Given the description of an element on the screen output the (x, y) to click on. 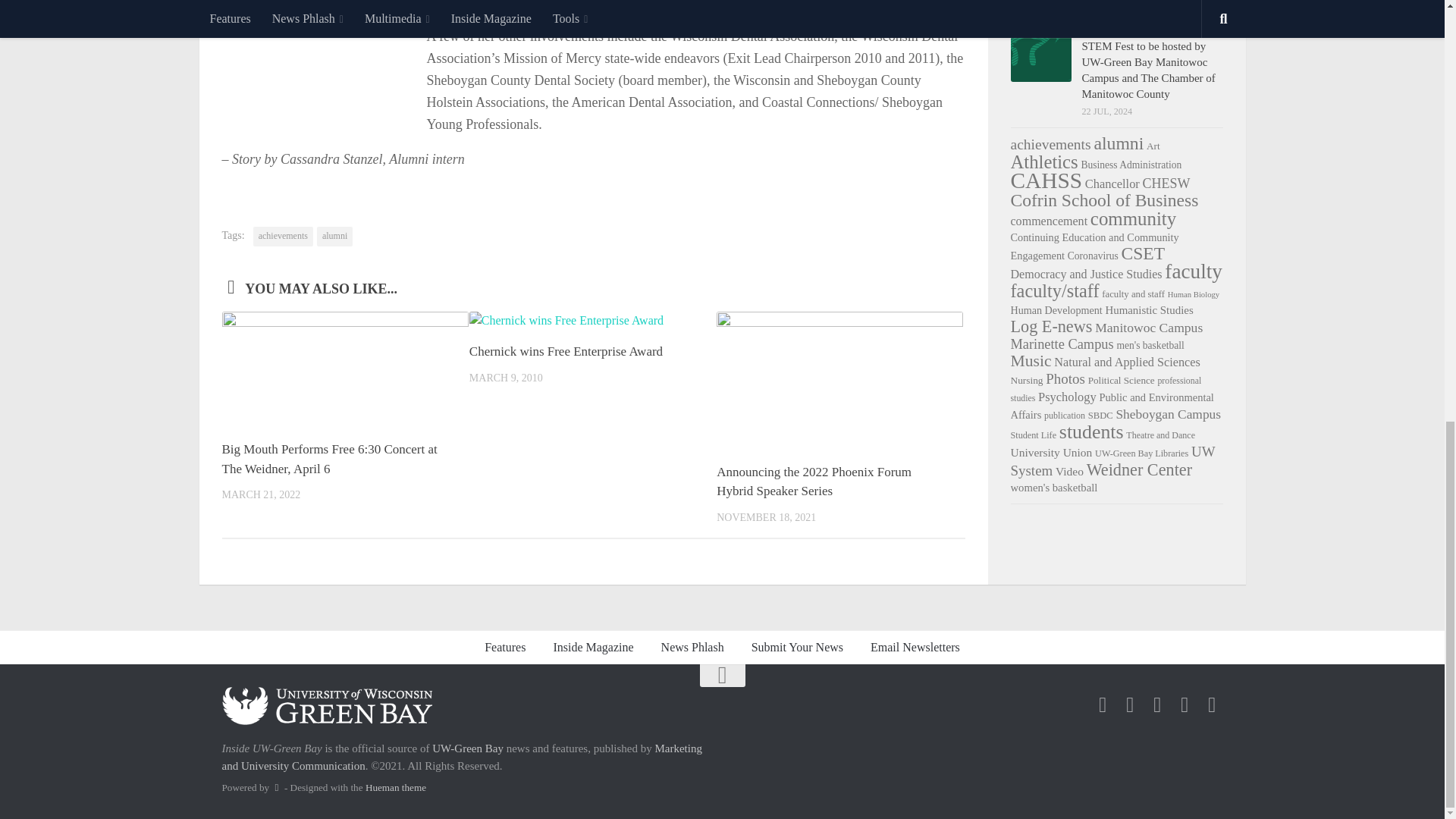
Chernick wins Free Enterprise Award (565, 350)
achievements (283, 236)
Big Mouth Performs Free 6:30 Concert at The Weidner, April 6 (328, 458)
Announcing the 2022 Phoenix Forum Hybrid Speaker Series (813, 481)
alumni (334, 236)
